Given the description of an element on the screen output the (x, y) to click on. 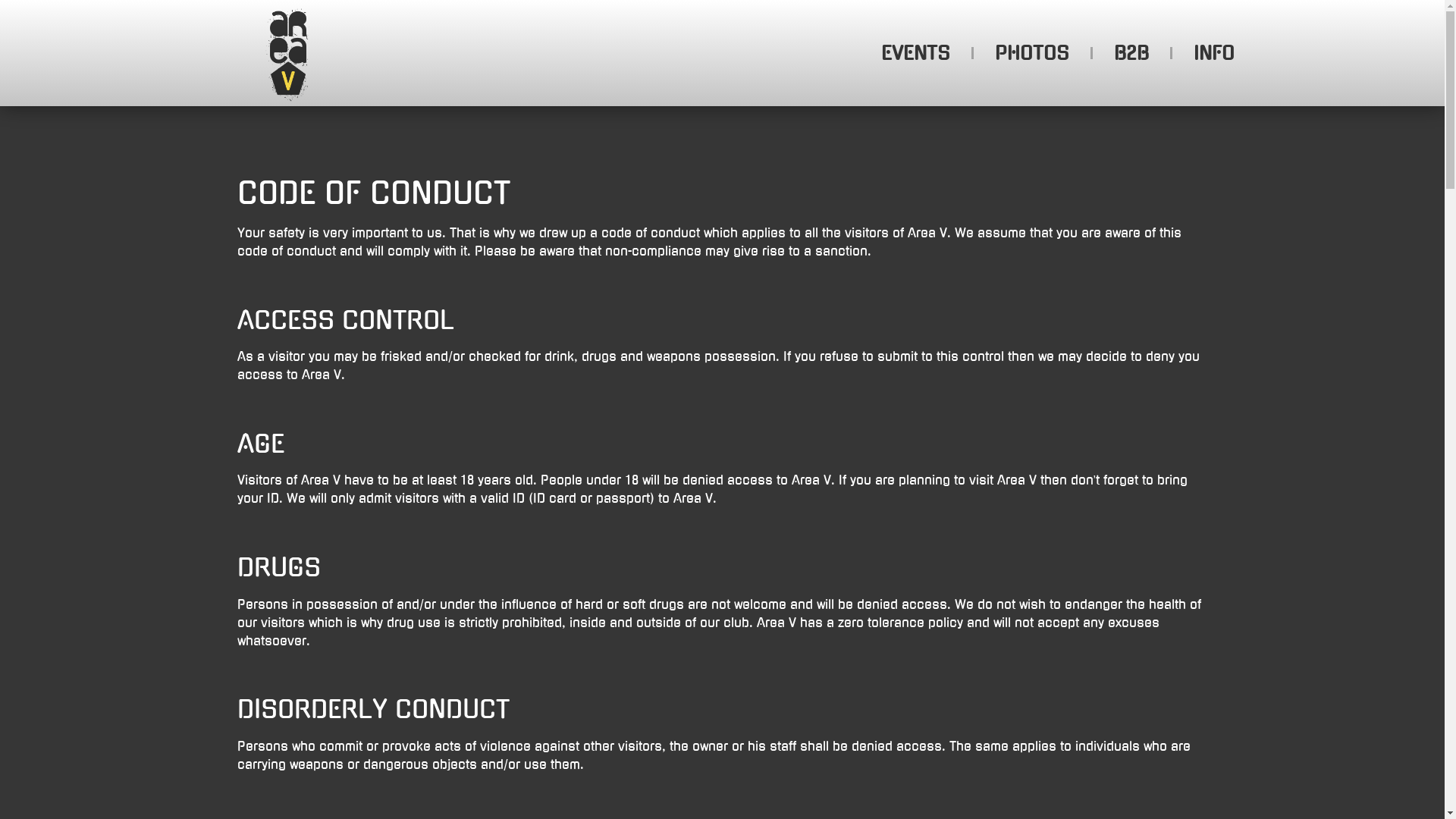
PHOTOS Element type: text (1031, 52)
INFO Element type: text (1213, 52)
EVENTS Element type: text (915, 52)
B2B Element type: text (1131, 52)
